Given the description of an element on the screen output the (x, y) to click on. 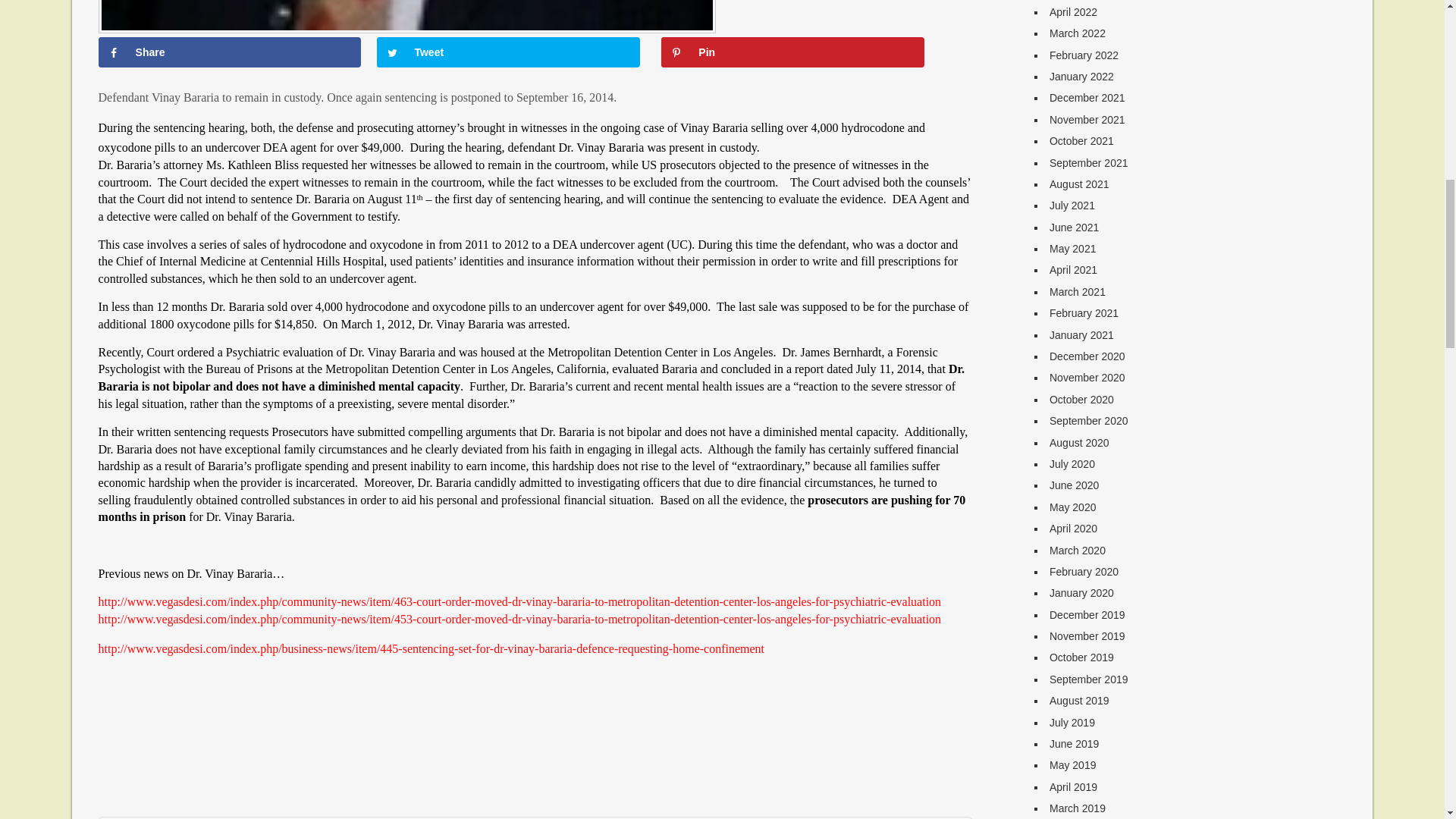
Share on Tweet (508, 51)
Save to Pinterest (792, 51)
Pin (792, 51)
Share on Share (230, 51)
Tweet (508, 51)
Share (230, 51)
